Given the description of an element on the screen output the (x, y) to click on. 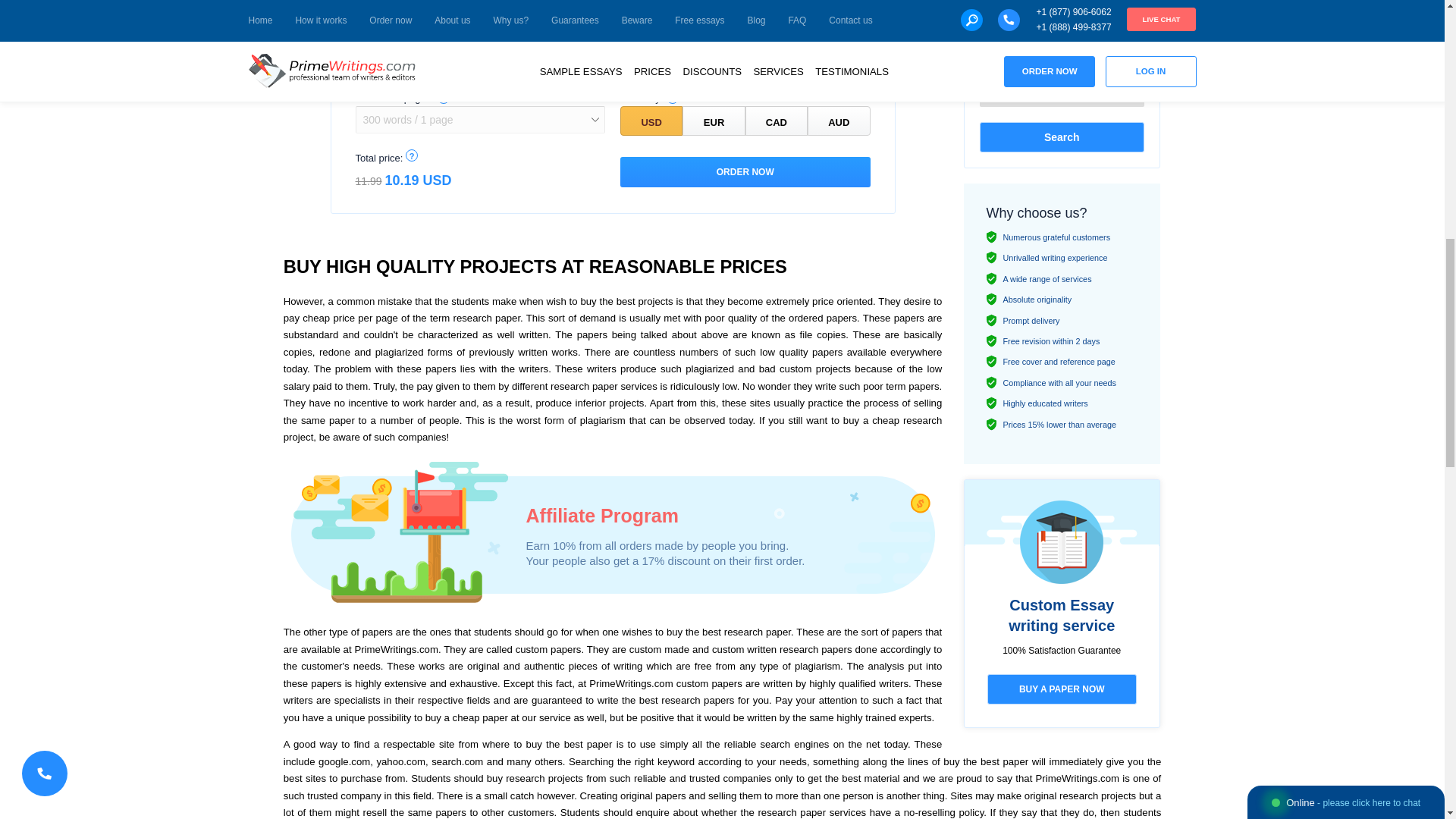
AUD (838, 120)
Order now (745, 172)
EUR (713, 120)
Search (1061, 137)
USD (651, 120)
CAD (776, 120)
